Given the description of an element on the screen output the (x, y) to click on. 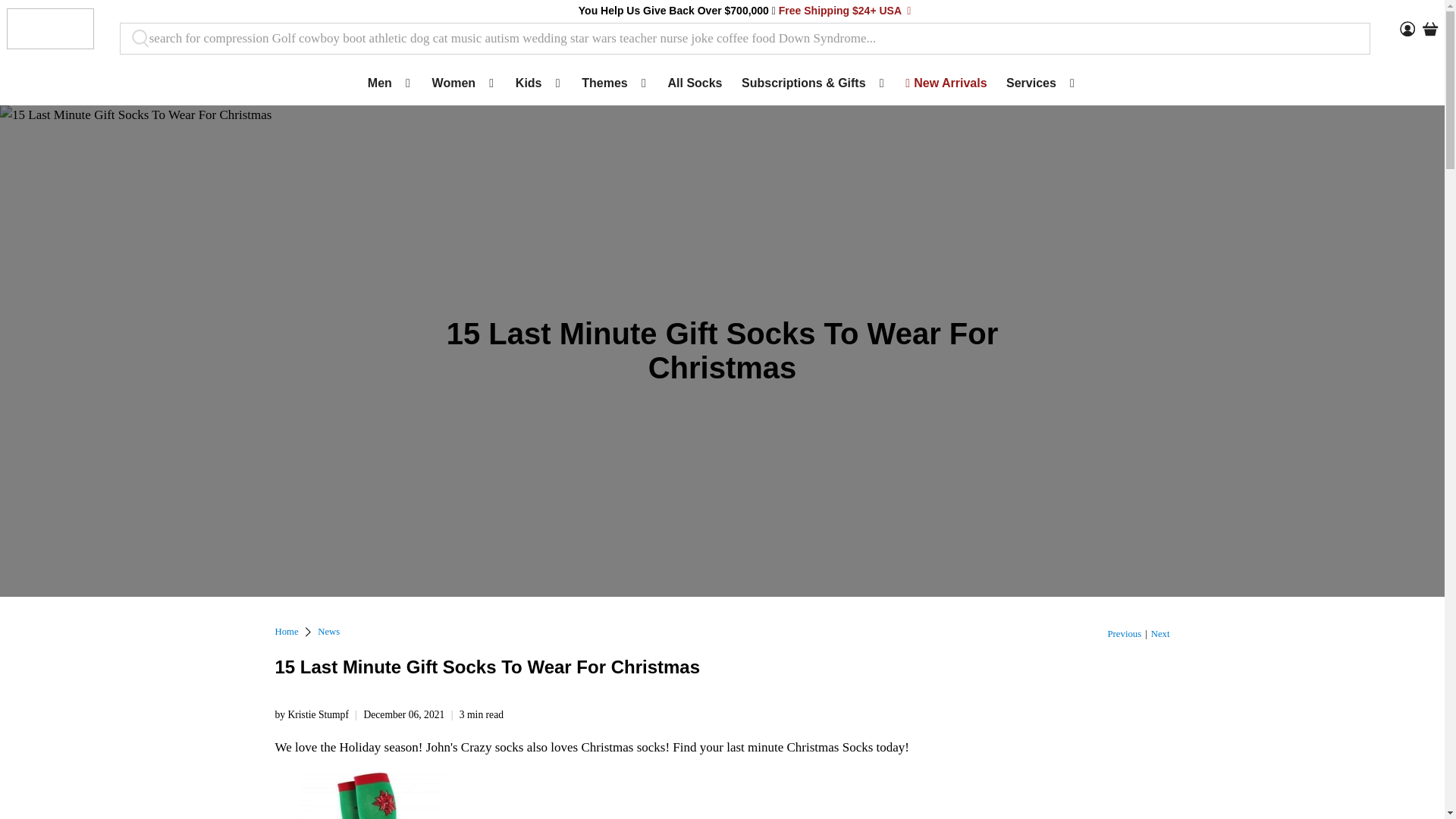
Kids (538, 83)
Women (463, 83)
Johns Crazy Socks (49, 28)
Men (390, 83)
News (328, 632)
Johns Crazy Socks (286, 632)
Next (1160, 634)
Previous (1124, 634)
